Given the description of an element on the screen output the (x, y) to click on. 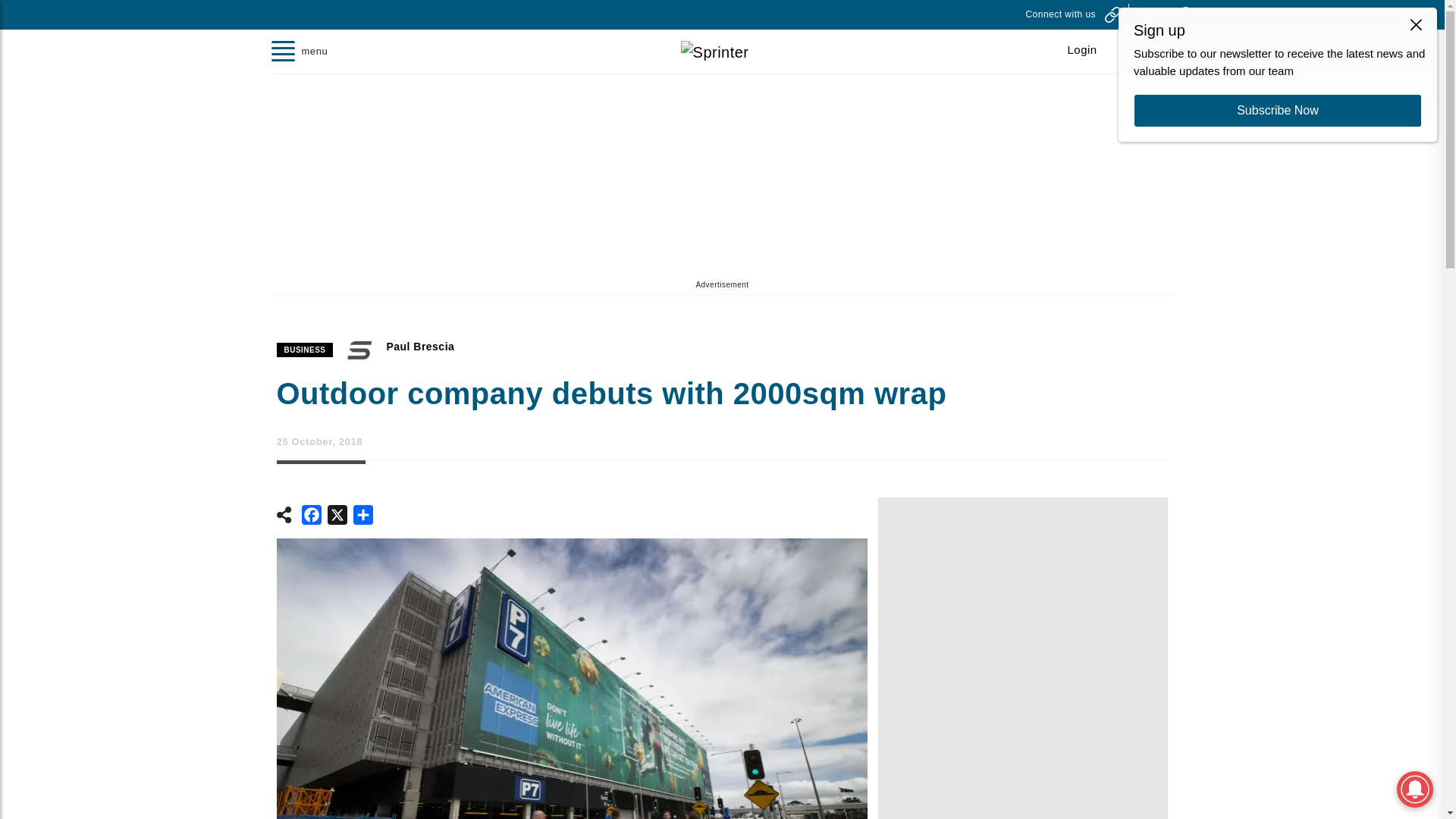
Connect with us   (1072, 14)
X (337, 517)
BUSINESS (304, 350)
Login (1082, 49)
Paul Brescia (419, 346)
SEARCH (1158, 13)
Facebook (311, 517)
Facebook (311, 517)
